Given the description of an element on the screen output the (x, y) to click on. 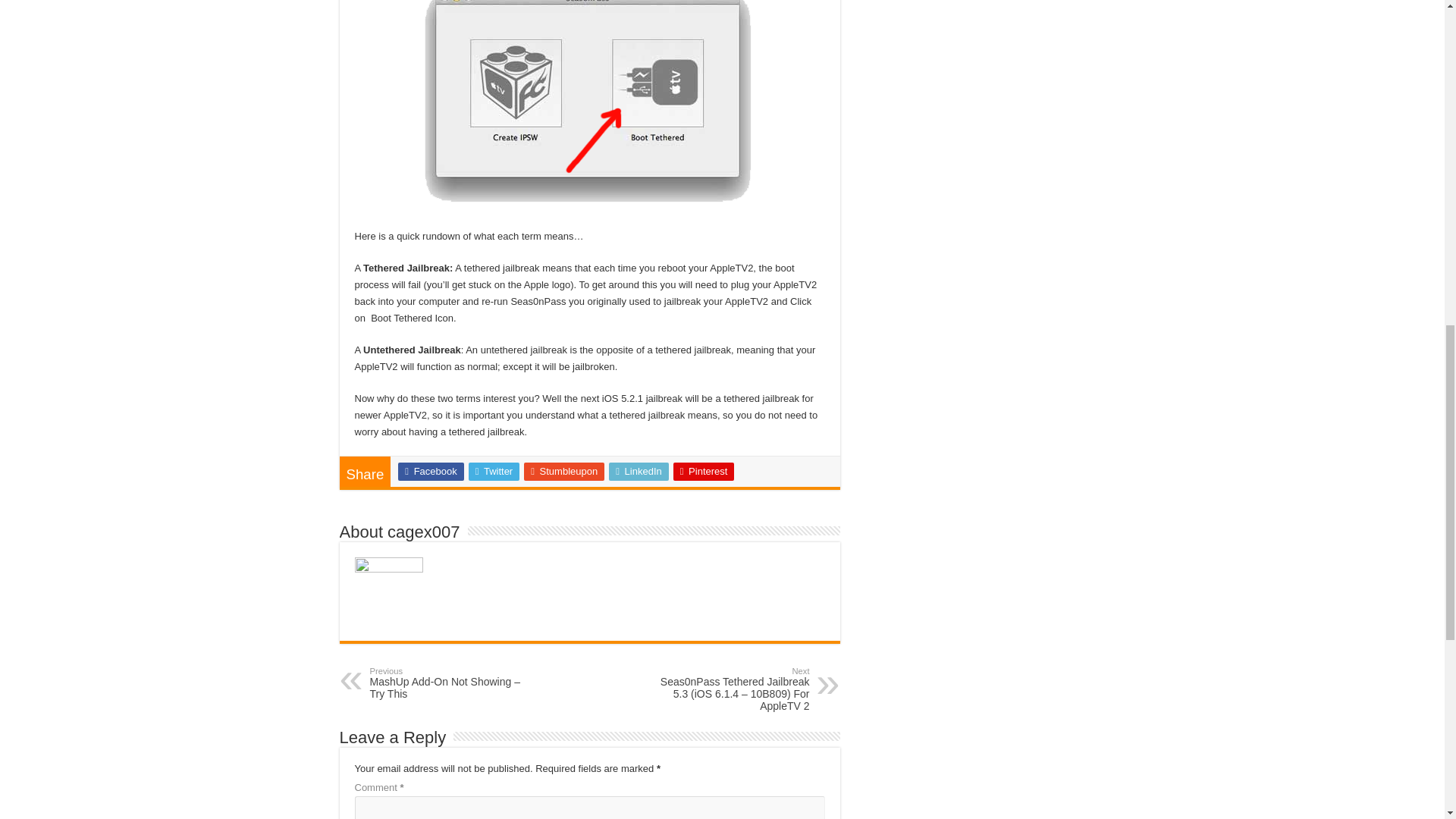
LinkedIn (638, 471)
Twitter (493, 471)
Facebook (430, 471)
Stumbleupon (564, 471)
Pinterest (703, 471)
